Given the description of an element on the screen output the (x, y) to click on. 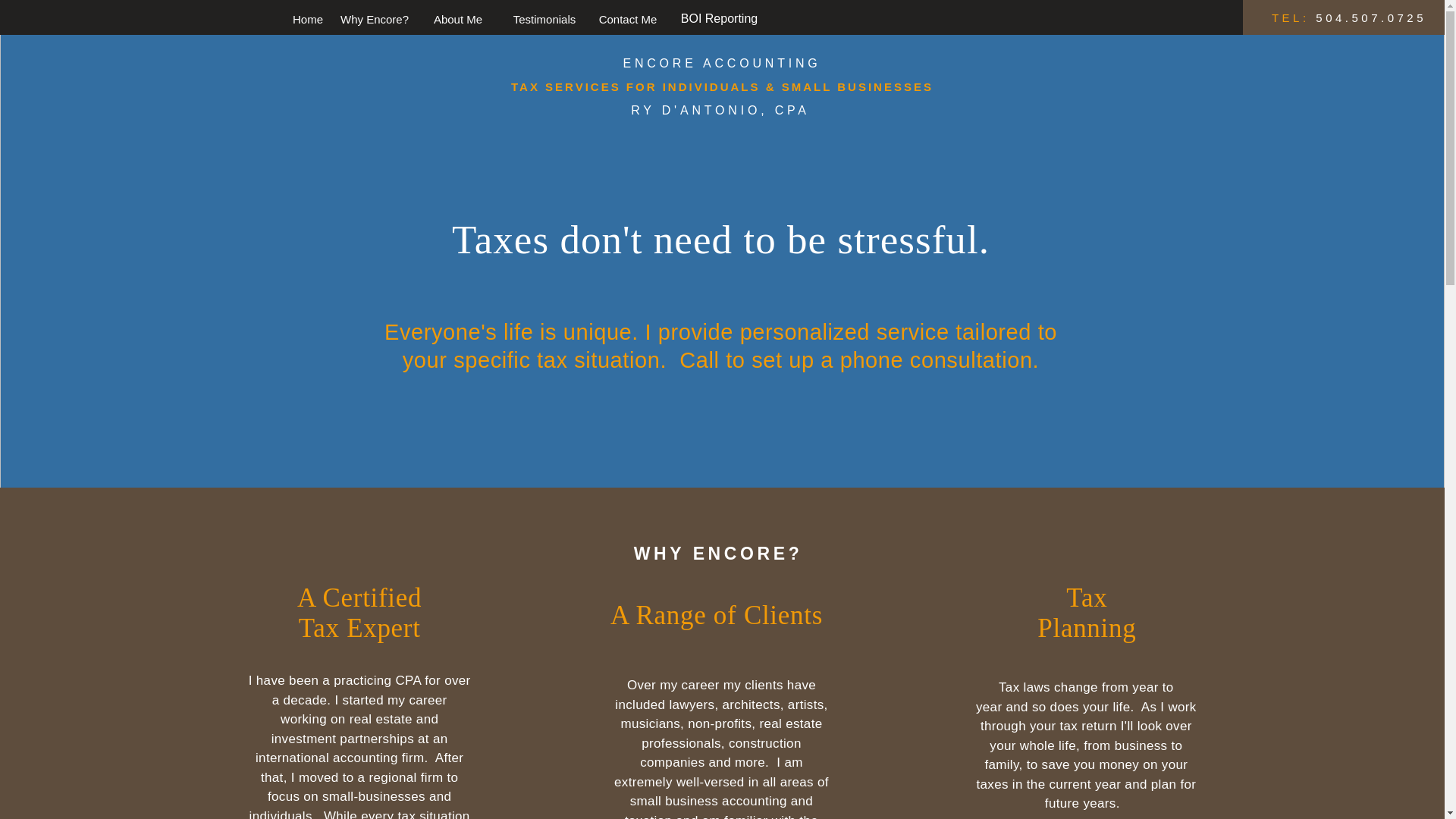
ENCORE ACCOUNTING (722, 62)
GET A FREE CONSULTATION (722, 516)
Home (318, 26)
BOI Reporting (718, 18)
Testimonials (544, 19)
About Me (456, 19)
BOI Reporting Guide (411, 26)
RY D'ANTONIO, CPA (719, 110)
Why Encore? (373, 19)
Home (306, 19)
